Given the description of an element on the screen output the (x, y) to click on. 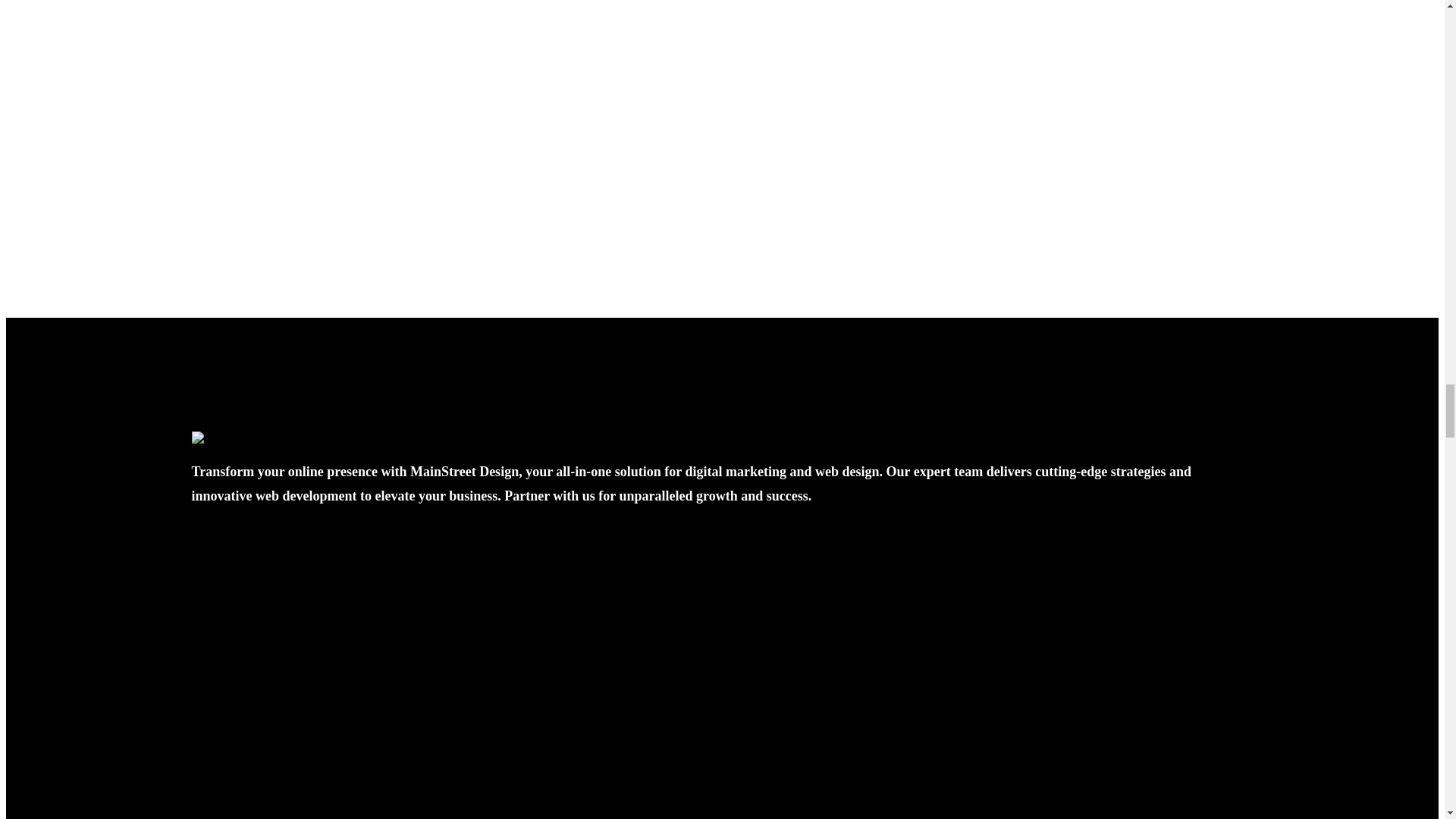
mainstreet-designs-logo-white (270, 438)
